Given the description of an element on the screen output the (x, y) to click on. 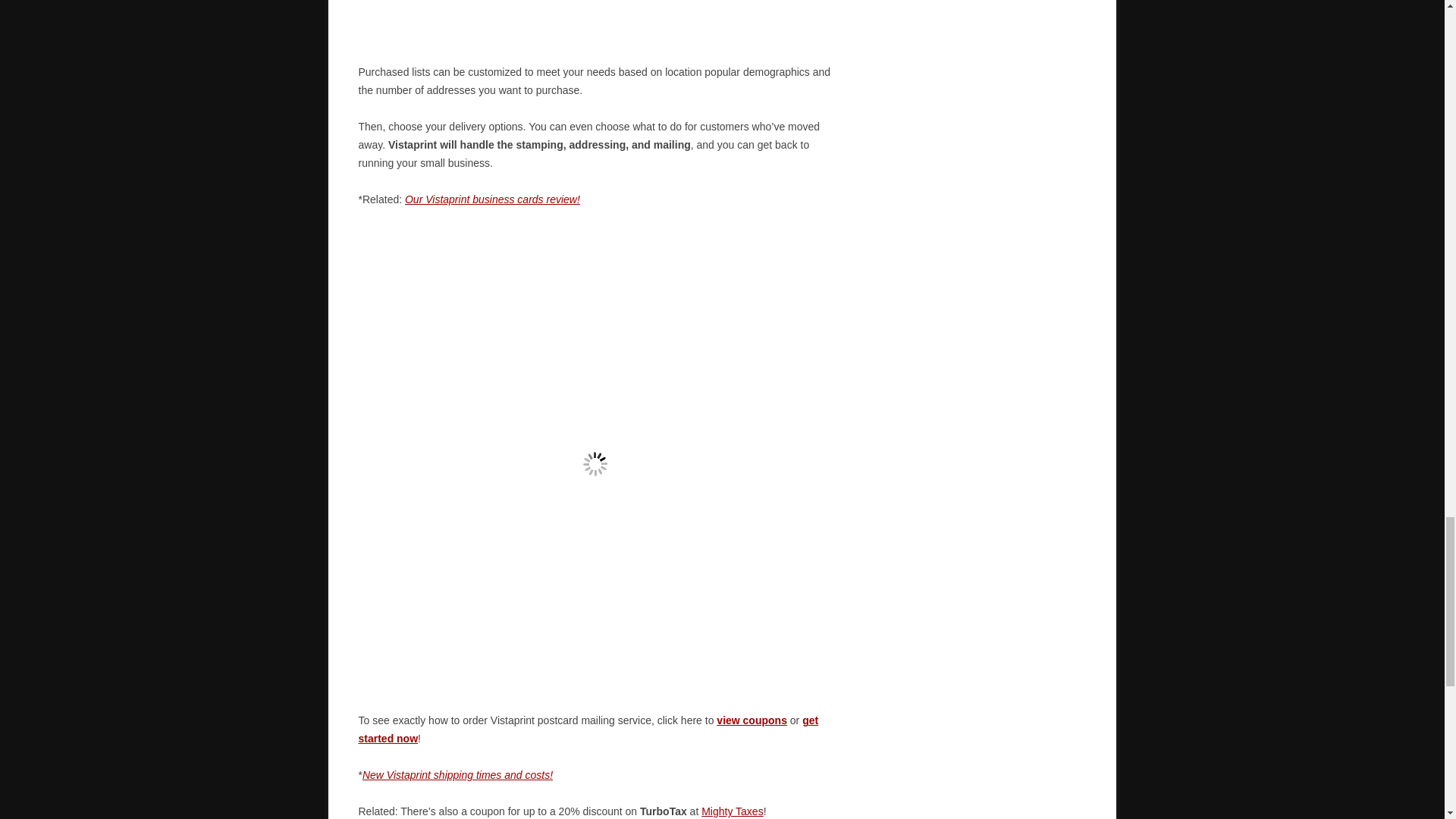
Our Vistaprint business cards review! (491, 199)
Mighty Taxes (731, 811)
New Vistaprint shipping times and costs! (457, 775)
view coupons (751, 720)
get started now (588, 729)
